Given the description of an element on the screen output the (x, y) to click on. 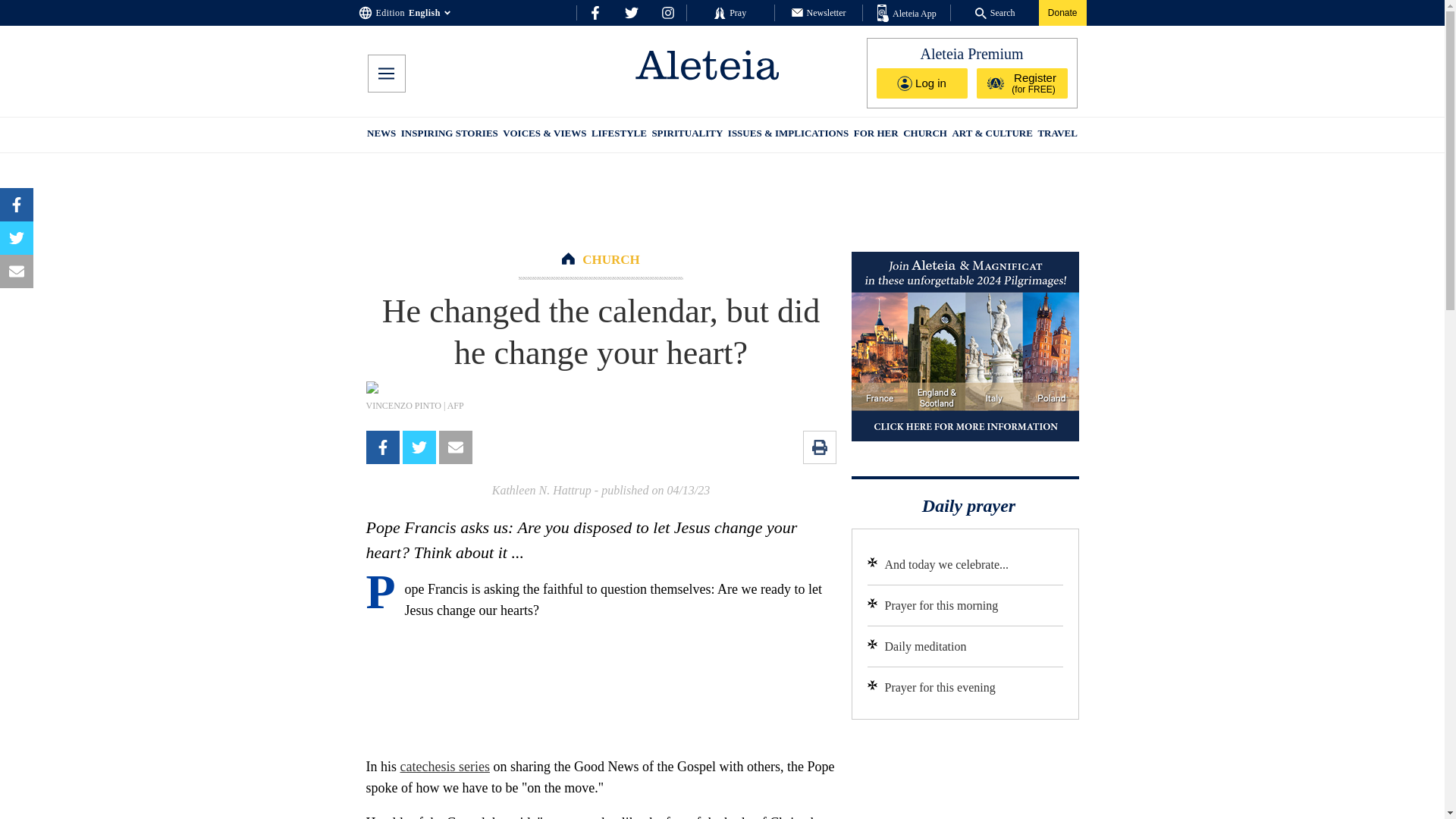
social-fb-top-row (595, 12)
TRAVEL (1056, 134)
Kathleen N. Hattrup (541, 490)
logo-header (706, 64)
CHURCH (611, 259)
Donate (1062, 12)
INSPIRING STORIES (449, 134)
Log in (922, 82)
catechesis series (444, 766)
catechesis series (444, 766)
FOR HER (875, 134)
Pray (729, 12)
Search (994, 12)
social-ig-top-row (668, 12)
social-tw-top-row (631, 12)
